Given the description of an element on the screen output the (x, y) to click on. 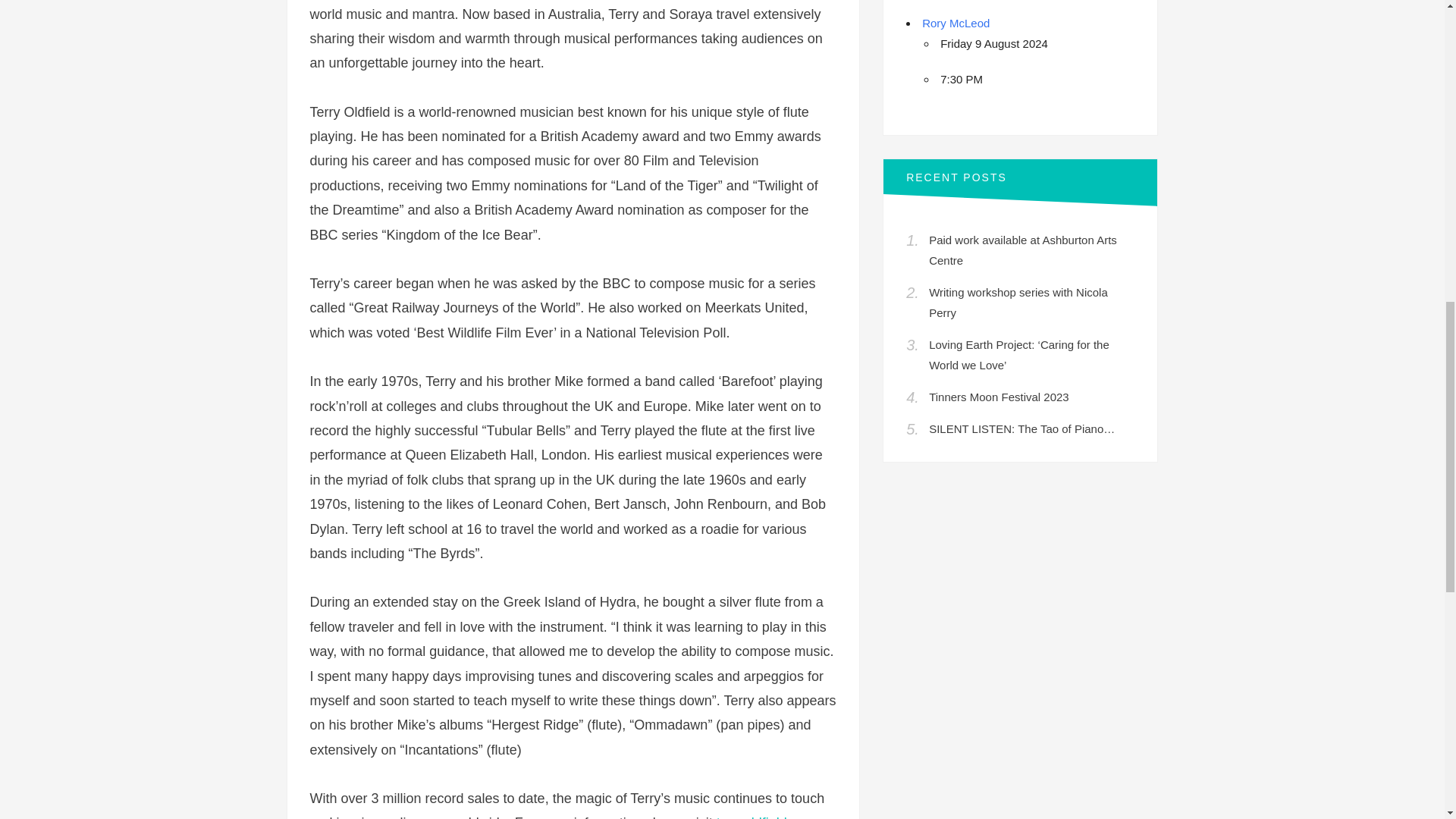
Tinners Moon Festival 2023 (998, 396)
terryoldfield.com (766, 816)
Paid work available at Ashburton Arts Centre (1022, 249)
Rory McLeod (955, 22)
Writing workshop series with Nicola Perry (1018, 302)
